Given the description of an element on the screen output the (x, y) to click on. 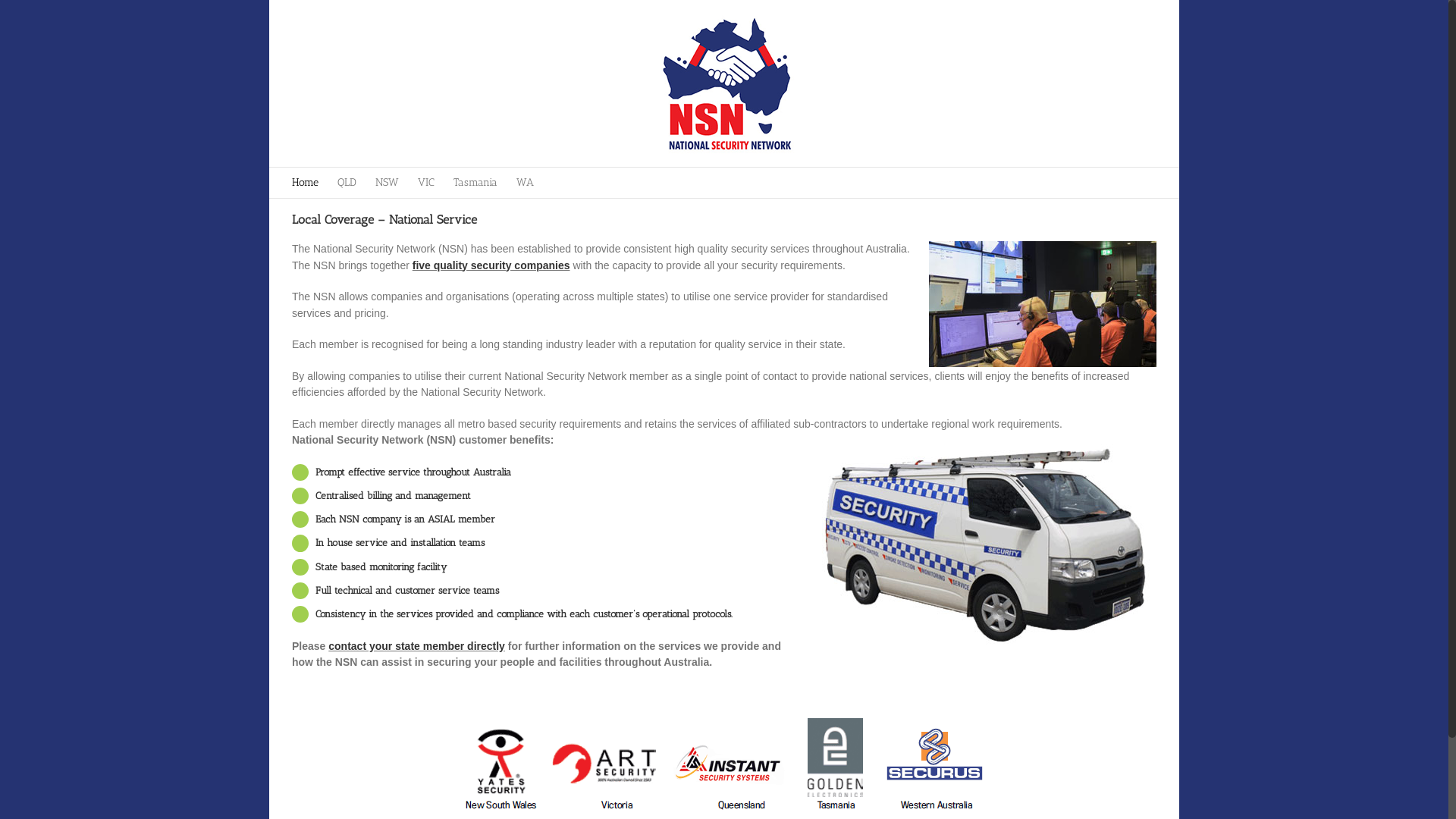
NSW Element type: text (386, 182)
Tasmania Element type: text (475, 182)
VIC Element type: text (425, 182)
five quality security companies Element type: text (491, 265)
WA Element type: text (524, 182)
contact your state member directly Element type: text (416, 646)
Home Element type: text (304, 182)
QLD Element type: text (346, 182)
